Given the description of an element on the screen output the (x, y) to click on. 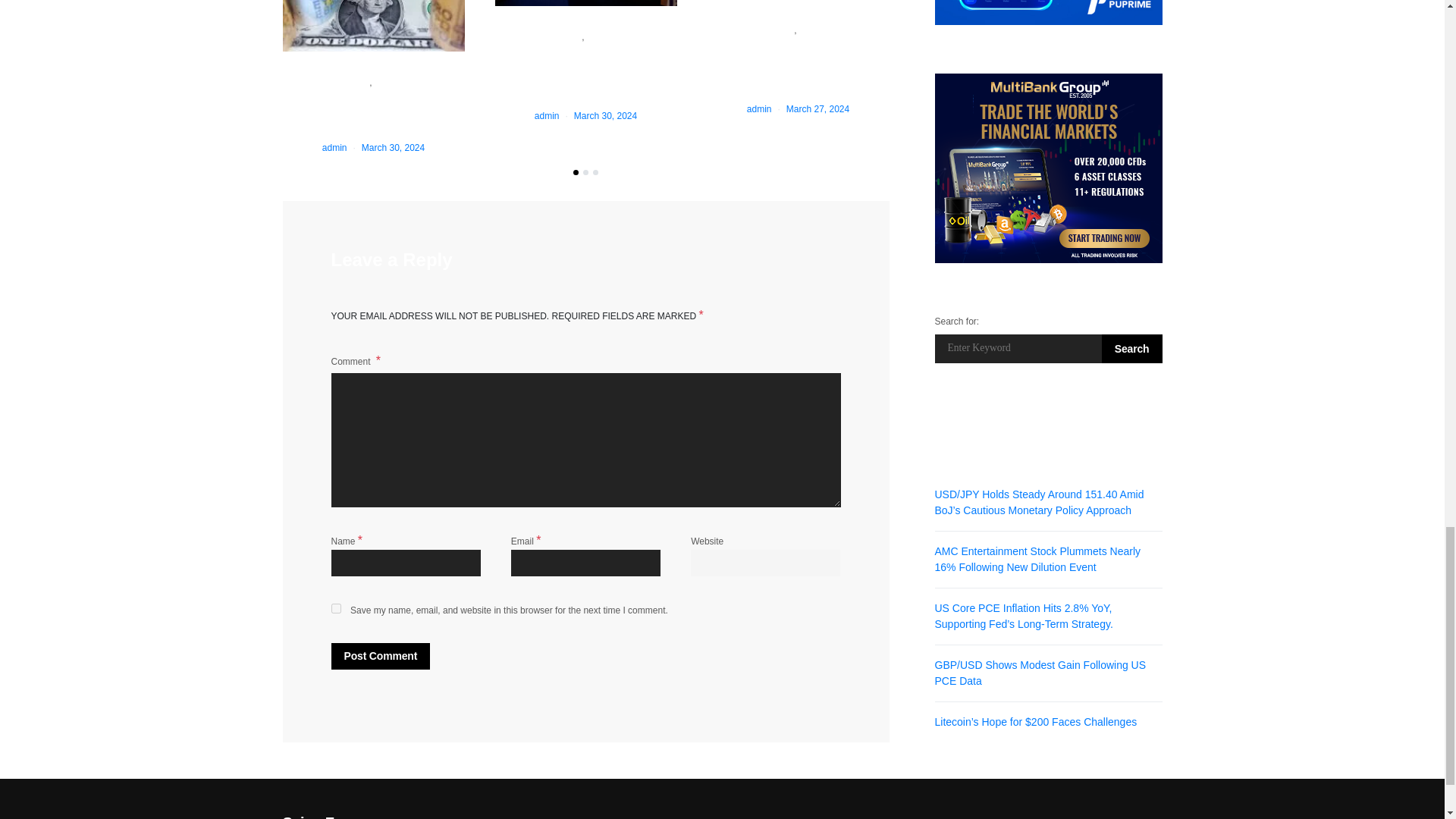
View all posts by admin (334, 147)
View all posts by admin (546, 115)
yes (335, 608)
View all posts by admin (758, 109)
Post Comment (379, 655)
